Given the description of an element on the screen output the (x, y) to click on. 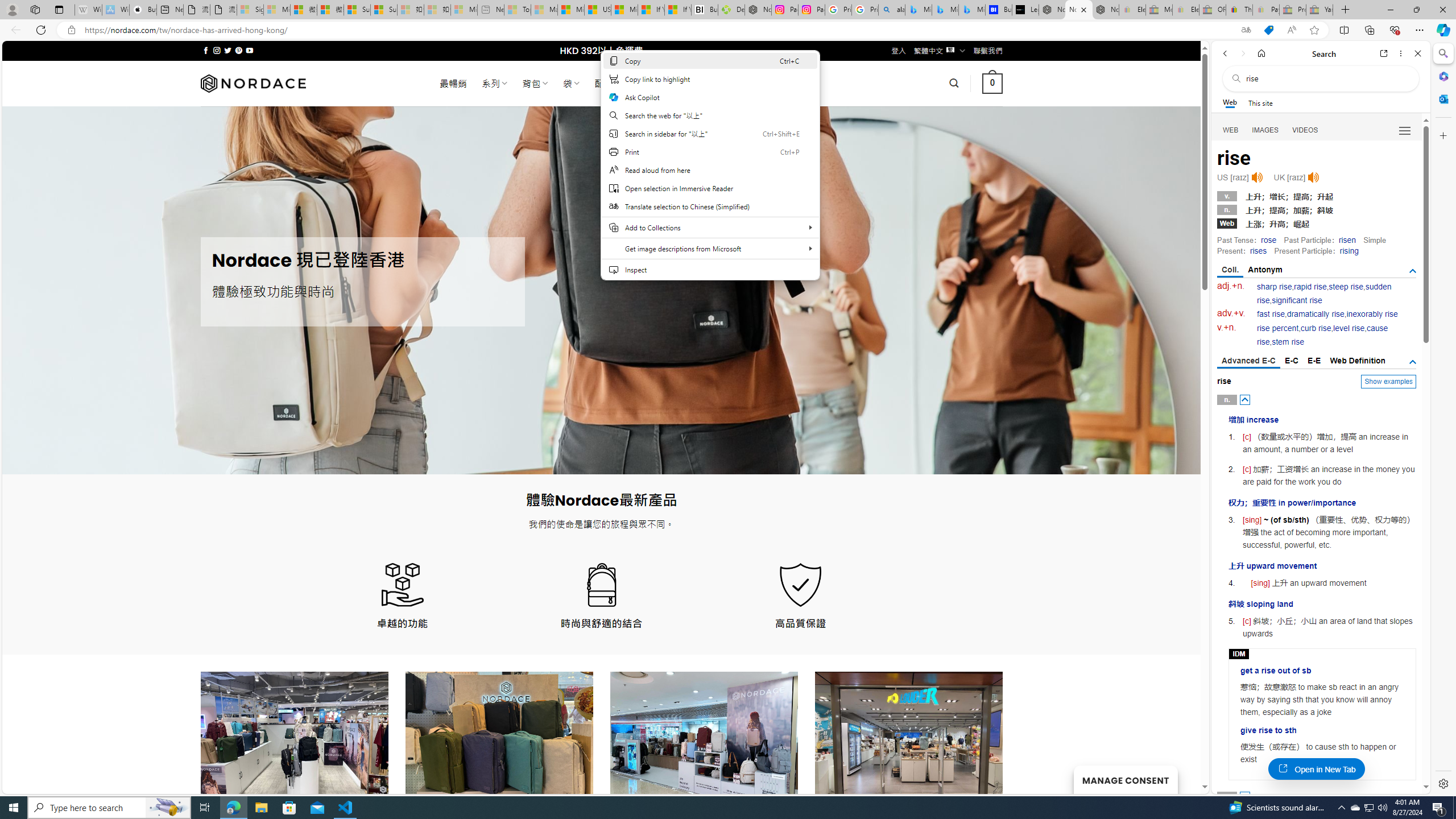
WEB (1231, 130)
risen (1347, 239)
inexorably rise (1371, 313)
significant rise (1296, 300)
Coll. (1230, 270)
